Given the description of an element on the screen output the (x, y) to click on. 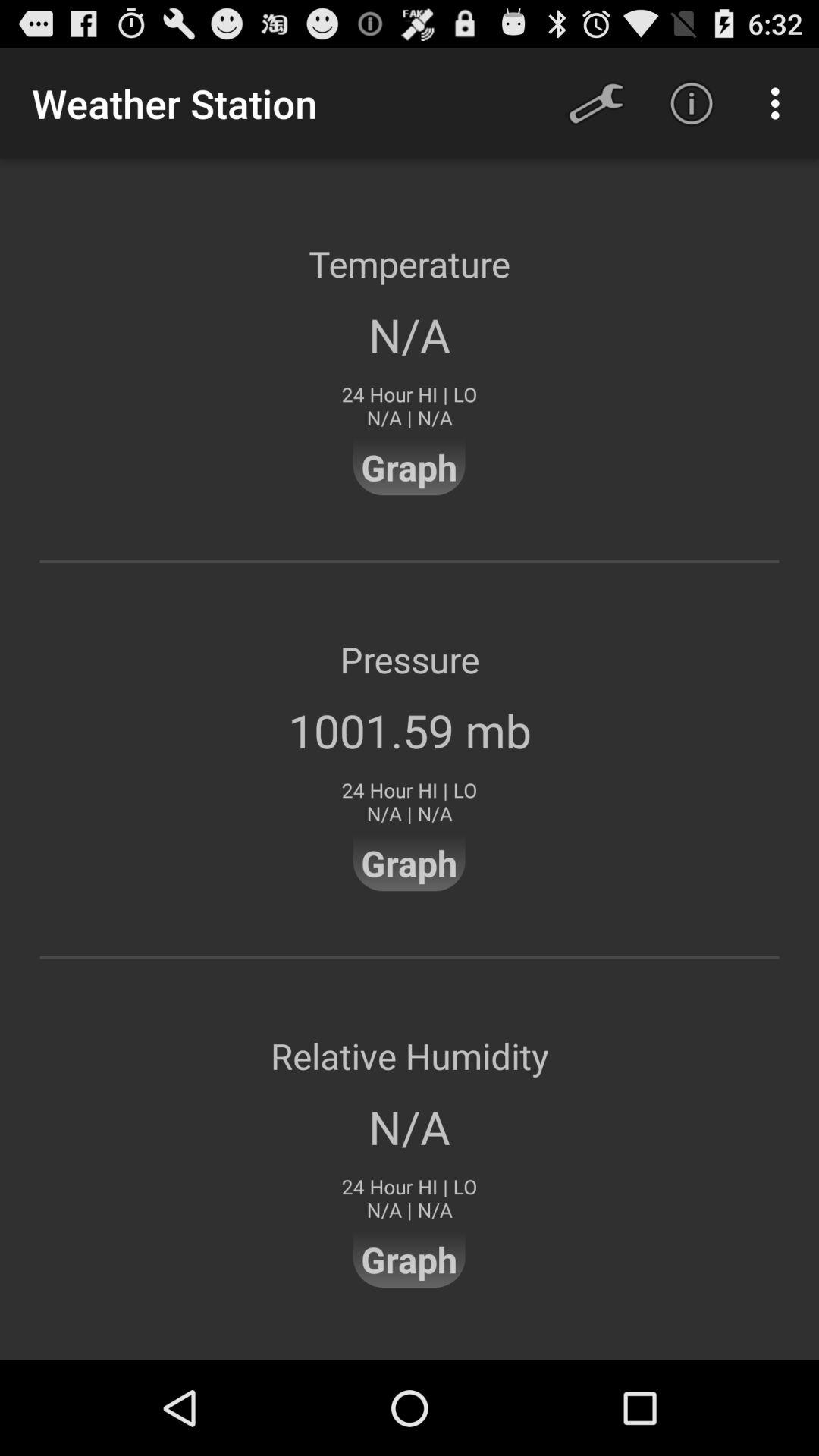
select the app above temperature item (691, 103)
